Given the description of an element on the screen output the (x, y) to click on. 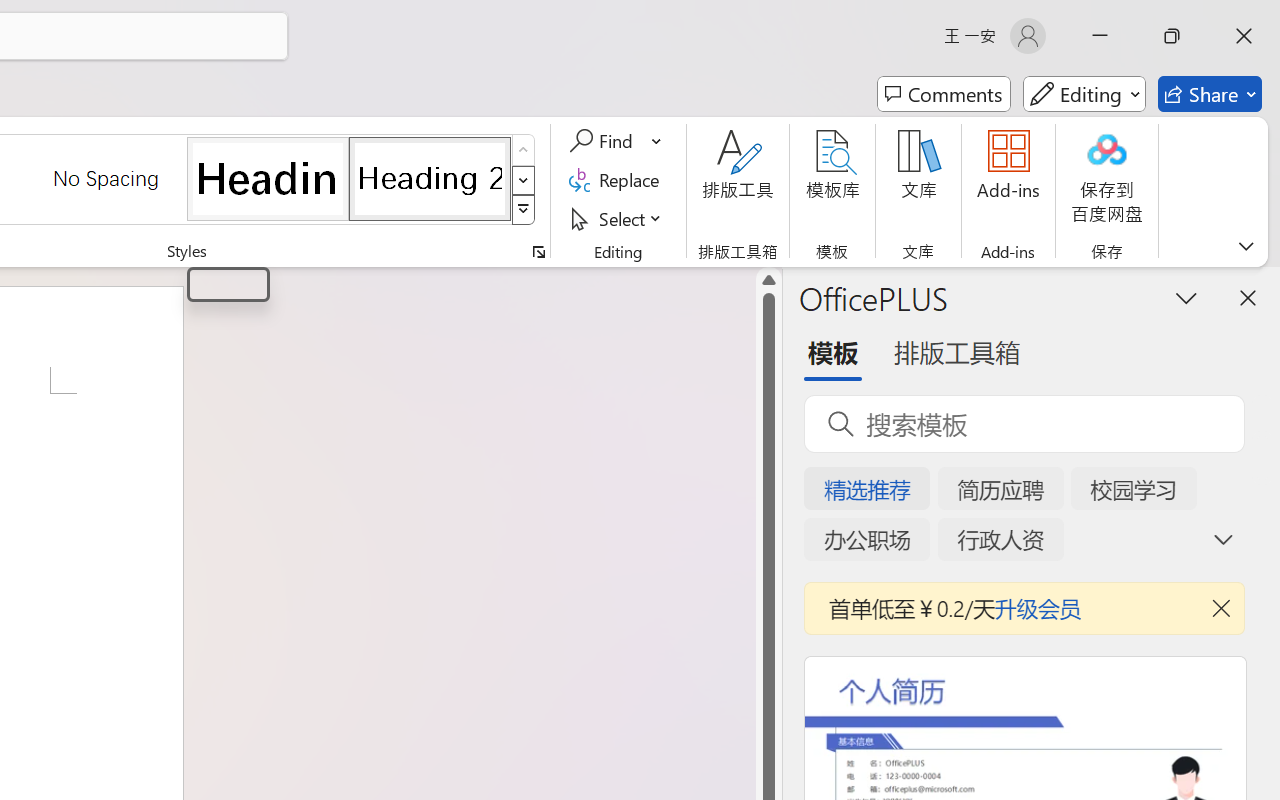
Comments (943, 94)
Replace... (617, 179)
Line up (769, 279)
Heading 1 (267, 178)
More Options (657, 141)
Find (604, 141)
Row Down (523, 180)
Minimize (1099, 36)
Ribbon Display Options (1246, 245)
Task Pane Options (1186, 297)
